Given the description of an element on the screen output the (x, y) to click on. 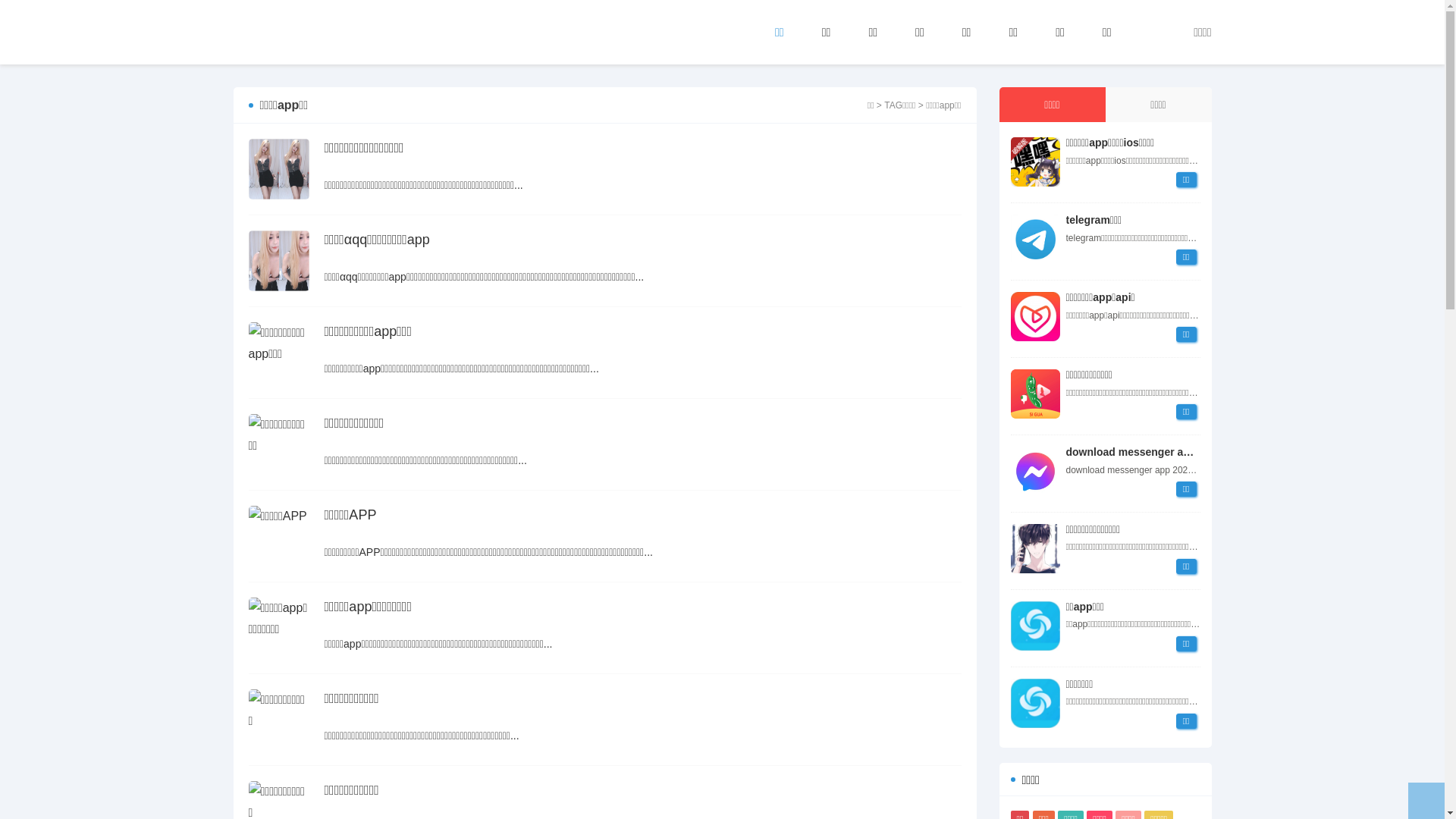
download messenger app 2020 Element type: hover (1034, 470)
download messenger app 2020 Element type: text (1144, 451)
